Given the description of an element on the screen output the (x, y) to click on. 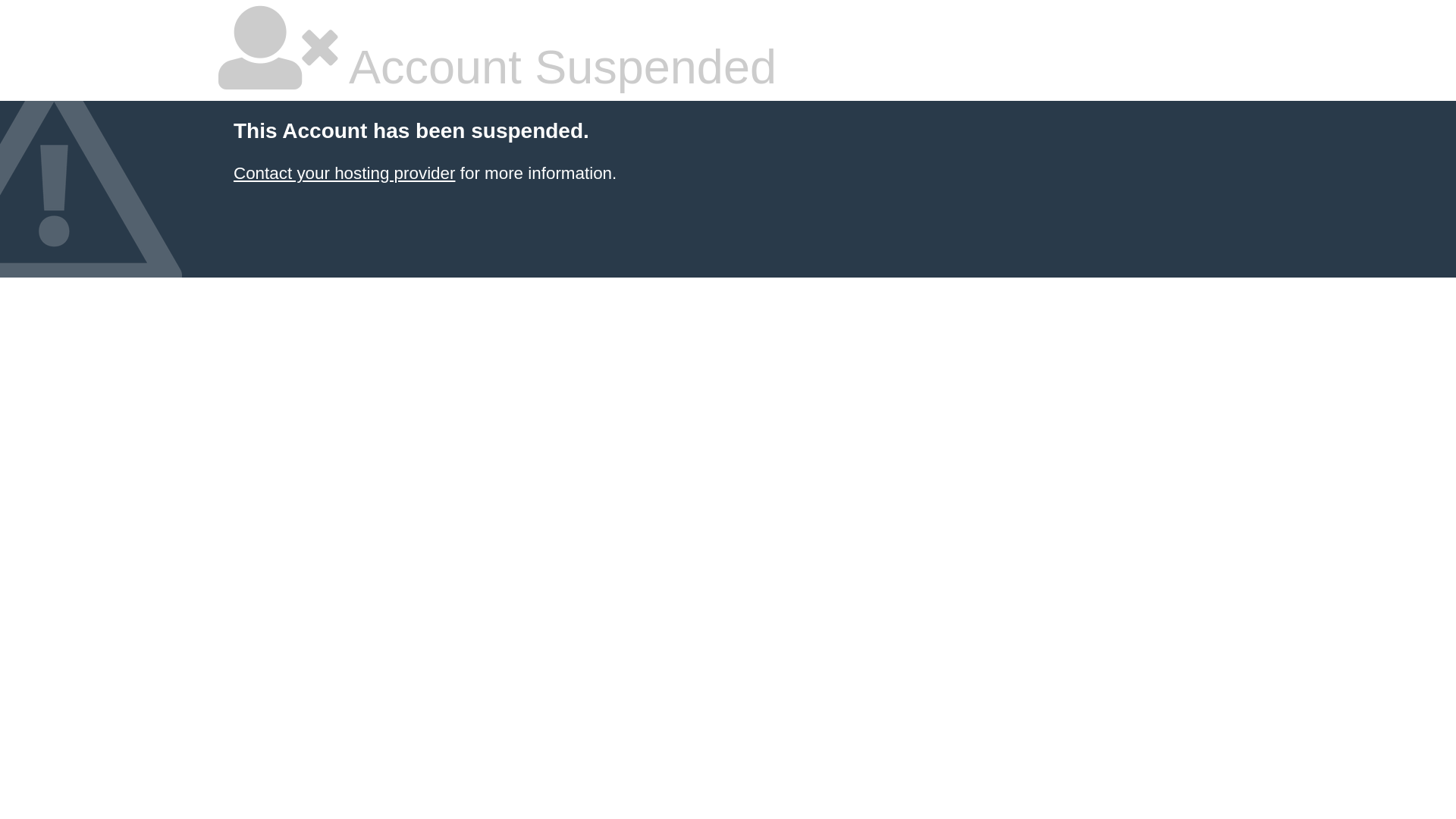
Contact your hosting provider Element type: text (344, 172)
